Given the description of an element on the screen output the (x, y) to click on. 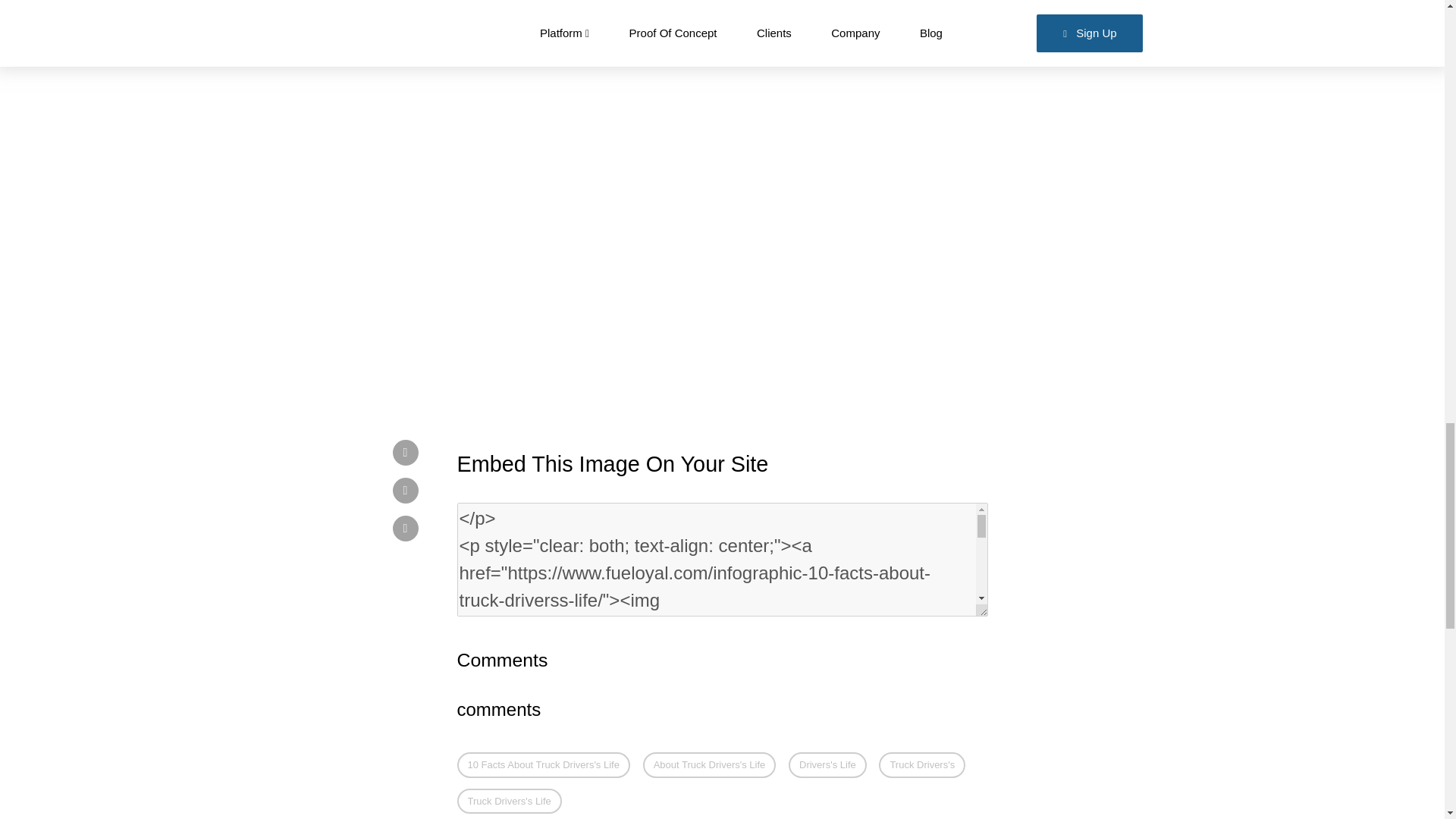
10 Facts About Truck Drivers's Life (542, 765)
Truck Drivers's Life (508, 801)
About Truck Drivers's Life (709, 765)
Drivers's Life (827, 765)
Truck Drivers's (922, 765)
